Given the description of an element on the screen output the (x, y) to click on. 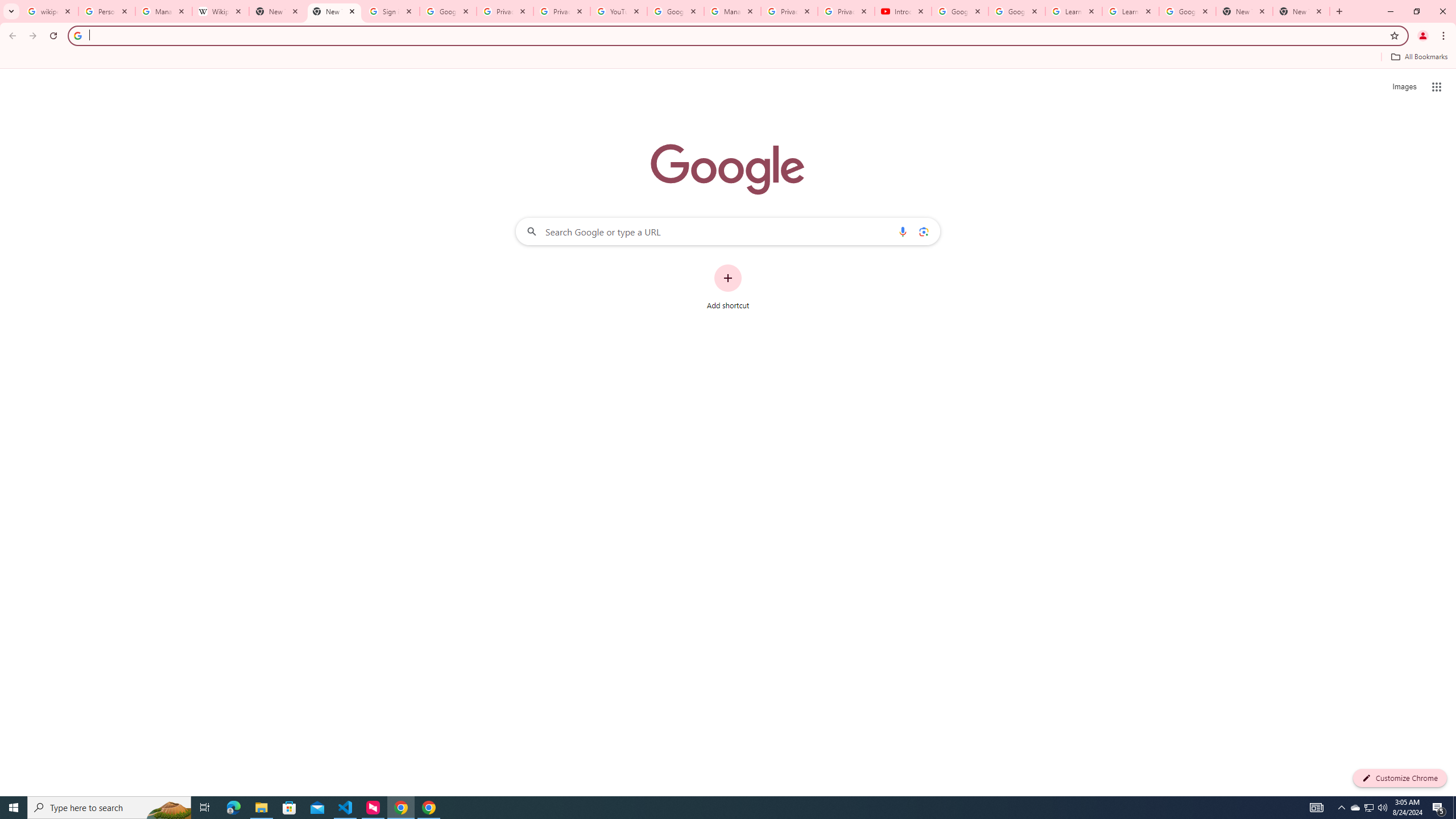
Introduction | Google Privacy Policy - YouTube (902, 11)
Google Account Help (675, 11)
New Tab (1301, 11)
